Given the description of an element on the screen output the (x, y) to click on. 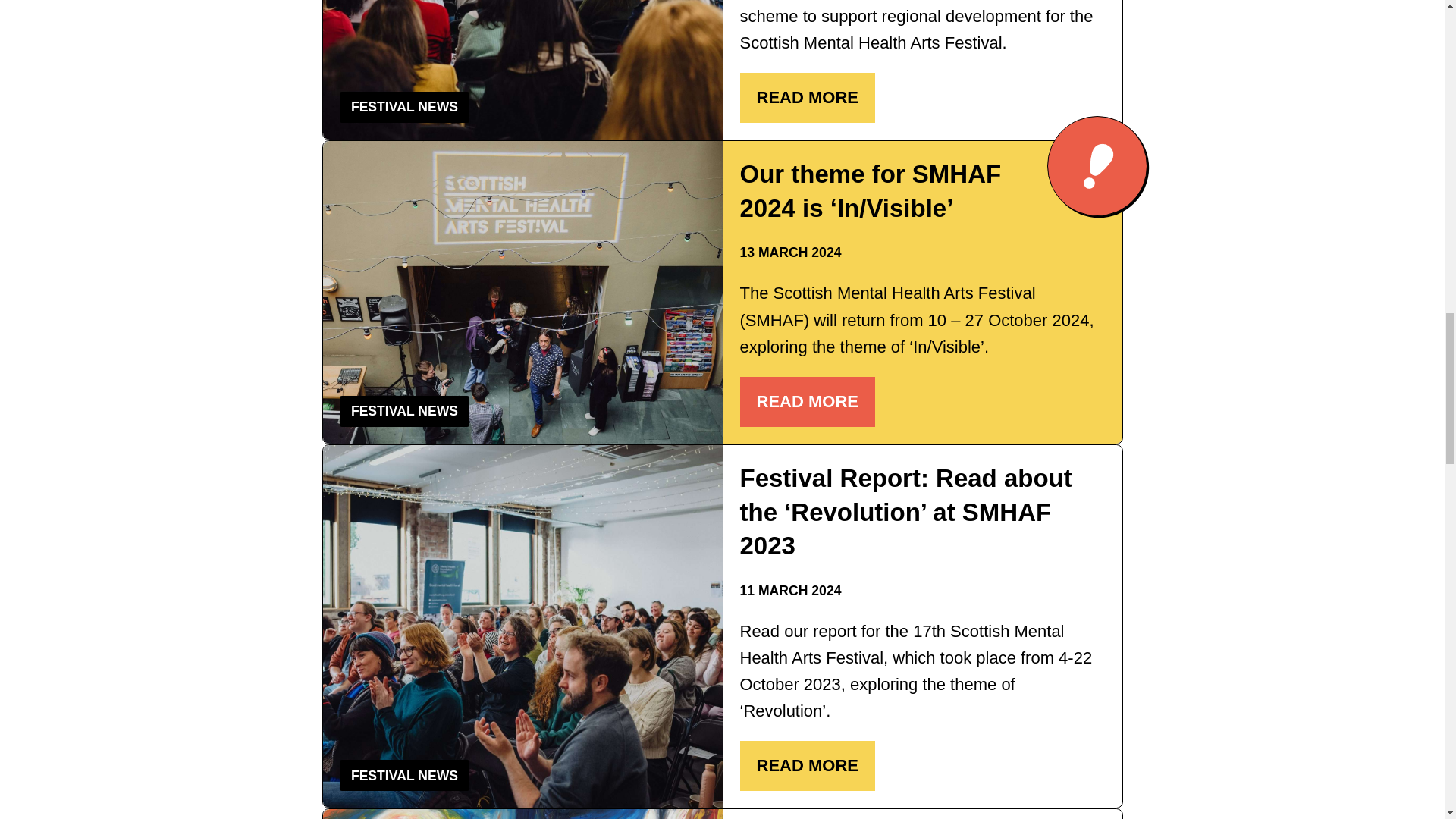
FESTIVAL NEWS (404, 106)
READ MORE (807, 97)
FESTIVAL NEWS (404, 410)
READ MORE (807, 401)
